Given the description of an element on the screen output the (x, y) to click on. 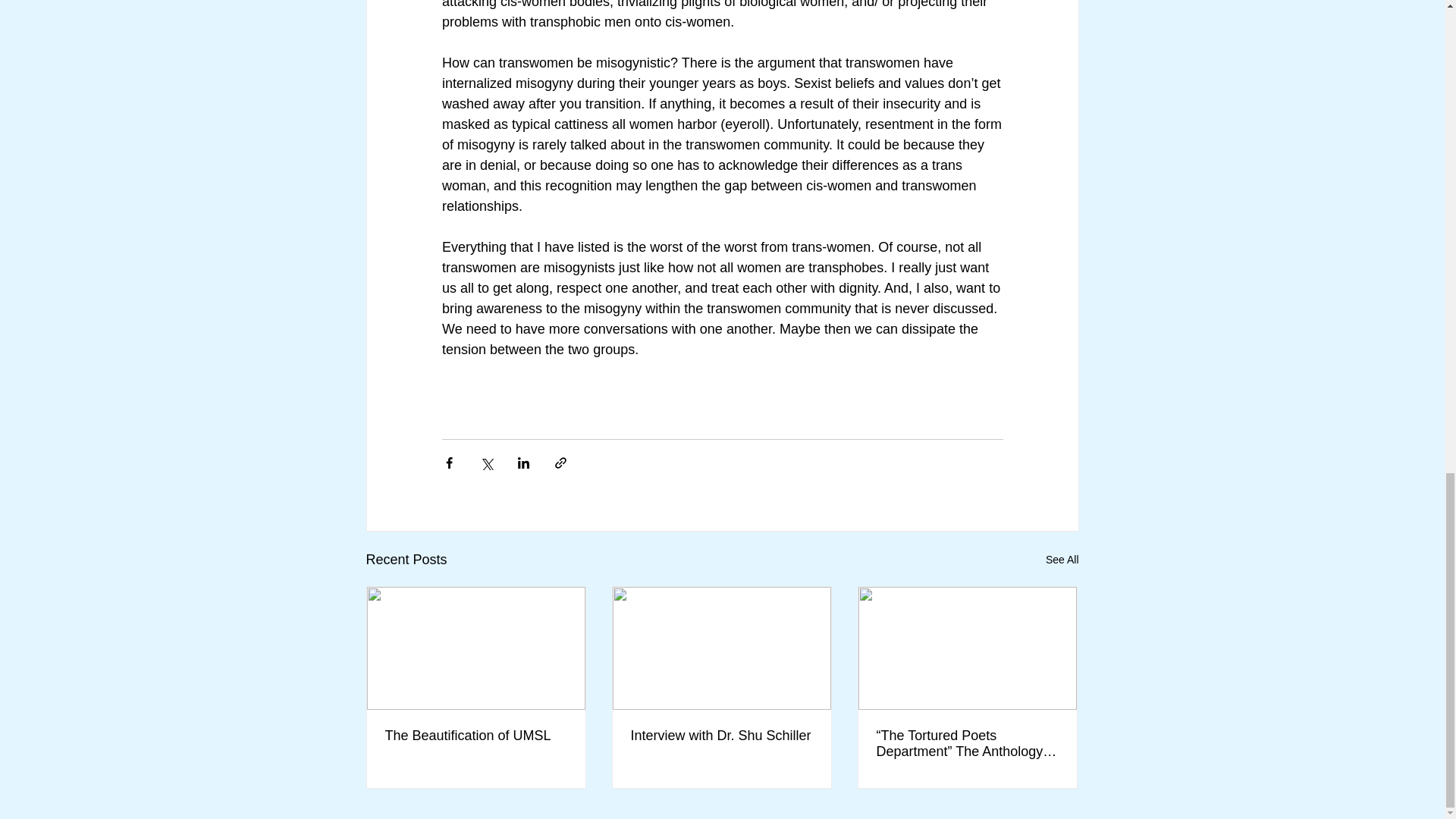
See All (1061, 559)
The Beautification of UMSL (476, 735)
Interview with Dr. Shu Schiller (721, 735)
